Given the description of an element on the screen output the (x, y) to click on. 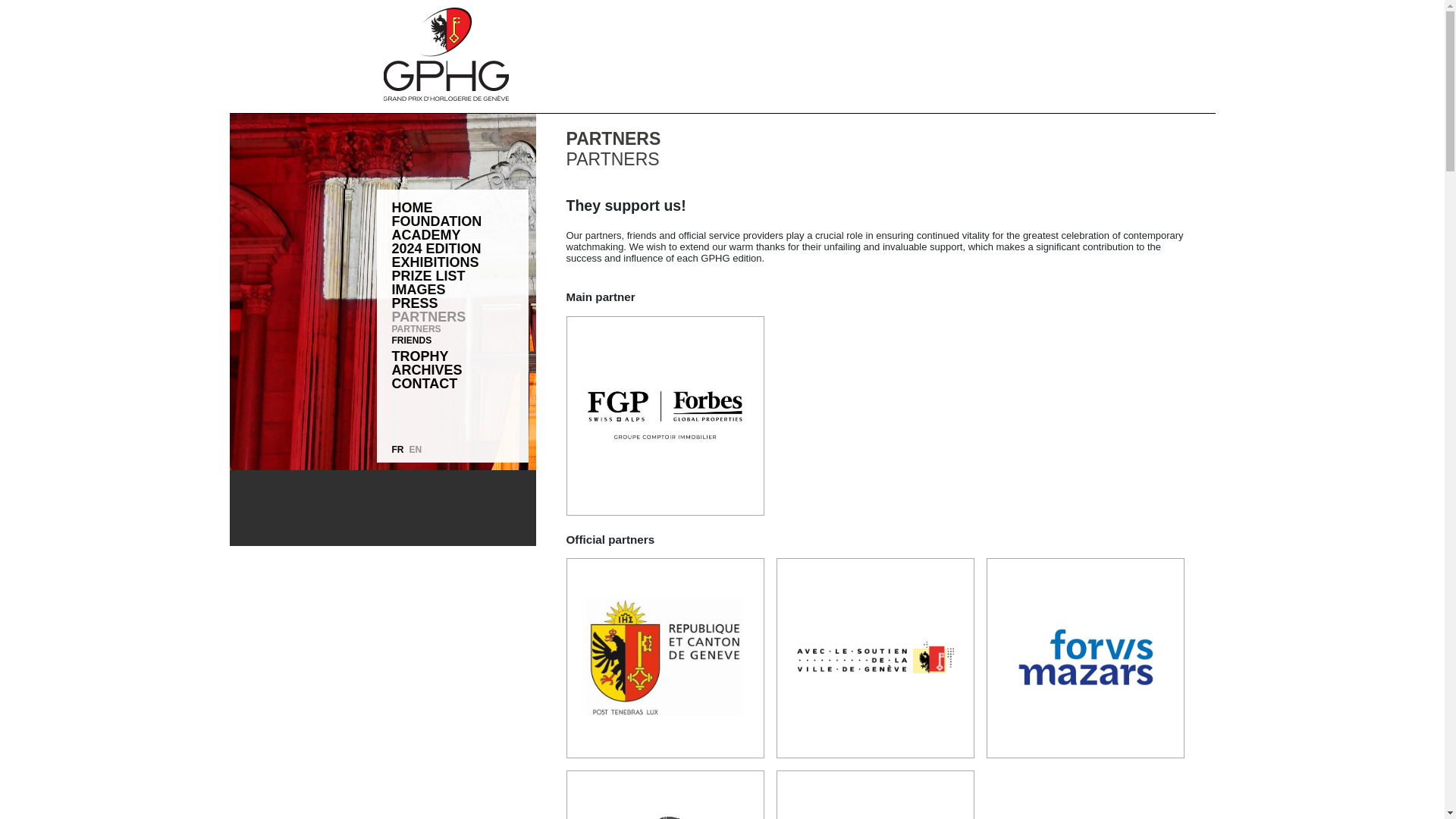
HOME (459, 207)
EXHIBITIONS (459, 262)
PRIZE LIST (459, 275)
PRESS (459, 303)
EN (415, 449)
2024 EDITION (459, 248)
IMAGES (459, 289)
CONTACT (459, 383)
PARTNERS (459, 328)
FOUNDATION (459, 221)
